Given the description of an element on the screen output the (x, y) to click on. 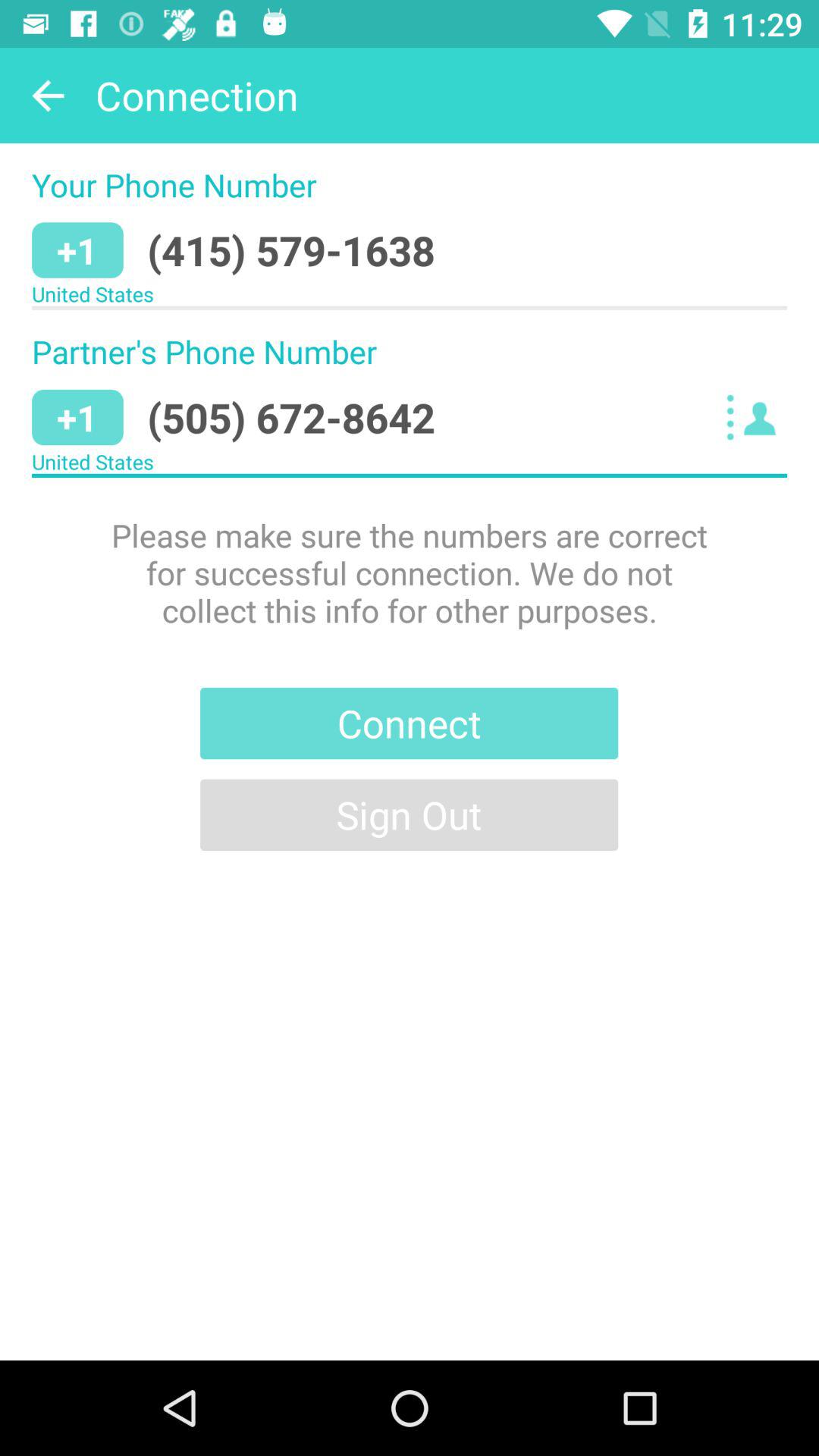
jump to the (505) 672-8642 (291, 417)
